Given the description of an element on the screen output the (x, y) to click on. 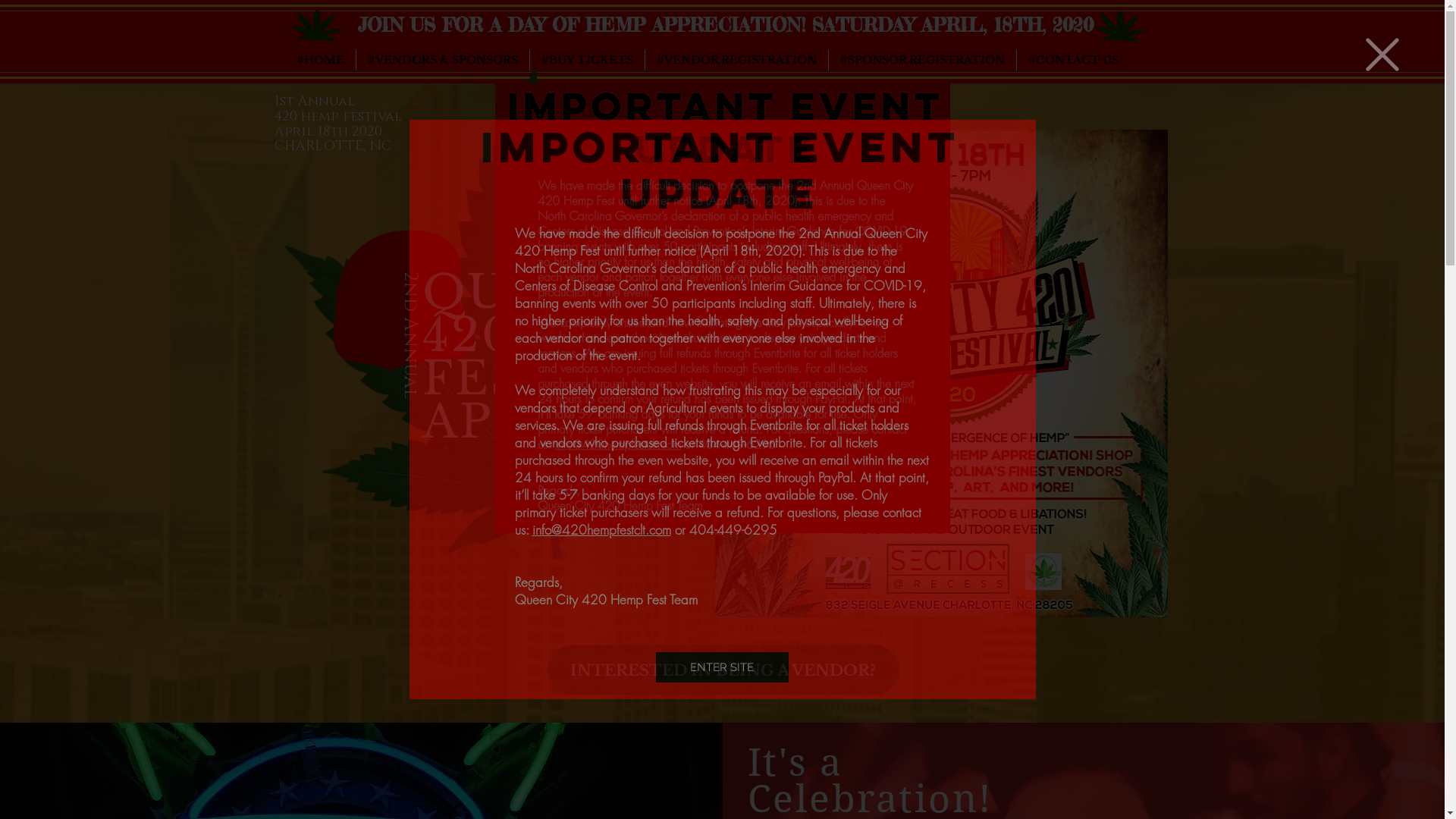
1st Annual  Element type: text (316, 101)
#SPONSOR REGISTRATION Element type: text (921, 60)
#VENDORS & SPONSORS Element type: text (442, 60)
#CONTACT US Element type: text (1072, 60)
Back to site Element type: hover (1382, 54)
#VENDOR REGISTRATION Element type: text (735, 60)
#BUY TICKETS Element type: text (586, 60)
#HOME Element type: text (320, 60)
INTERESTED IN BEING A VENDOR? Element type: text (722, 669)
info@420hempfestclt.com Element type: text (601, 529)
